Given the description of an element on the screen output the (x, y) to click on. 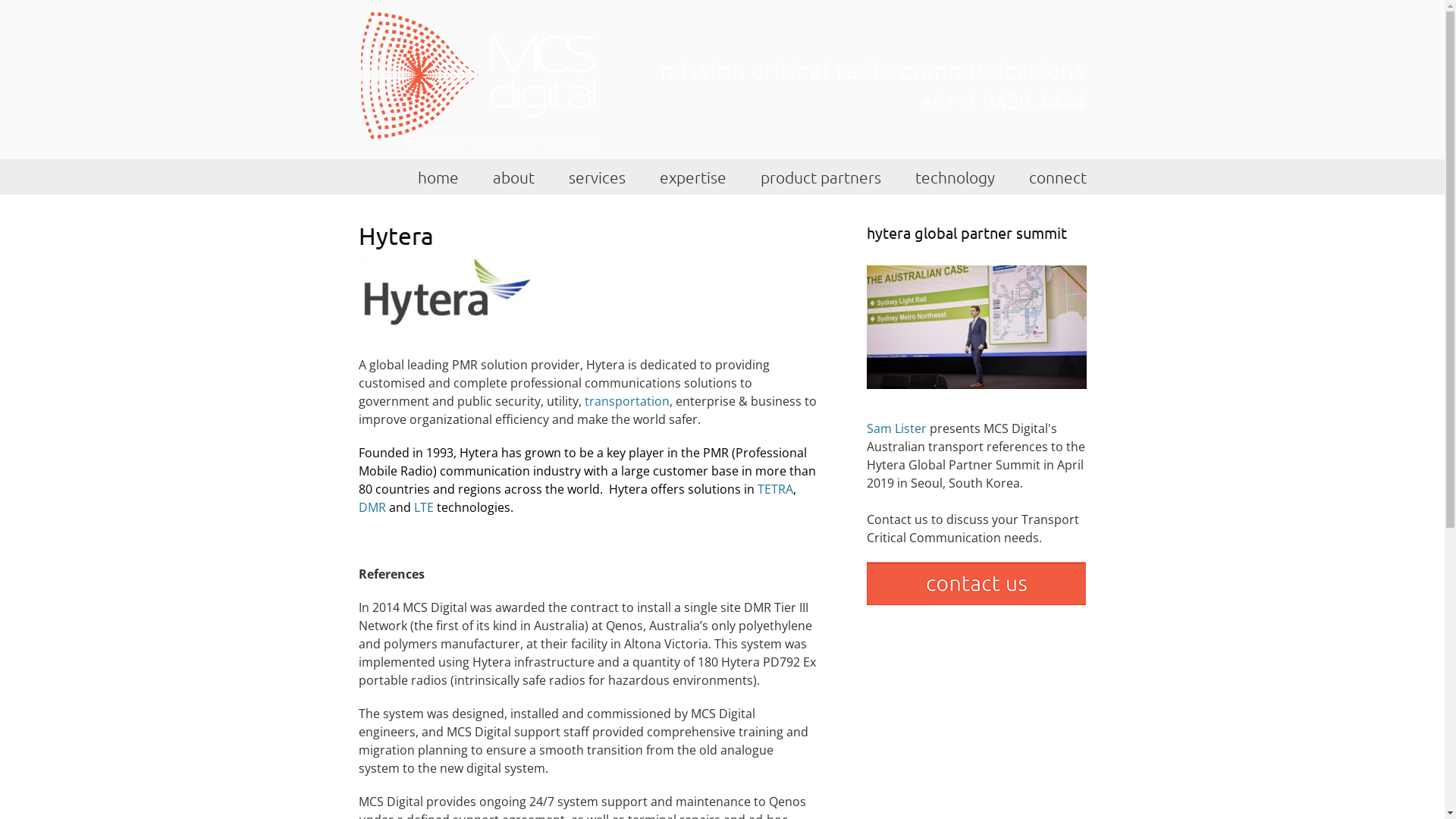
services Element type: text (596, 176)
connect Element type: text (1056, 176)
TETRA Element type: text (774, 488)
about Element type: text (513, 176)
product partners Element type: text (819, 176)
home Element type: text (437, 176)
DMR Element type: text (371, 506)
expertise Element type: text (692, 176)
Contact Us Element type: hover (975, 600)
technology Element type: text (954, 176)
mcs digital Element type: text (478, 85)
Sam Lister Element type: text (895, 428)
transportation Element type: text (625, 400)
LTE Element type: text (423, 506)
